Given the description of an element on the screen output the (x, y) to click on. 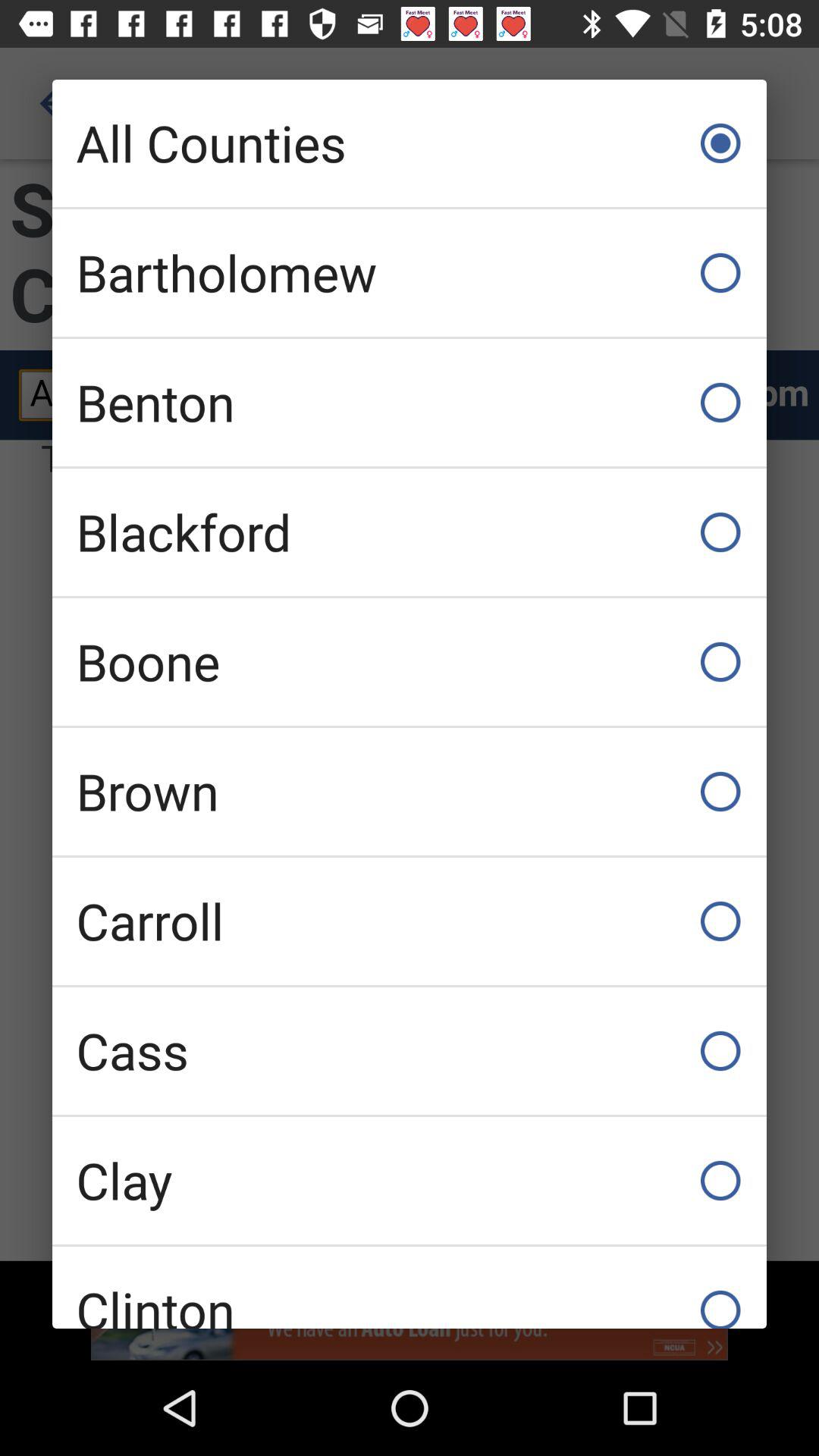
press bartholomew icon (409, 272)
